Given the description of an element on the screen output the (x, y) to click on. 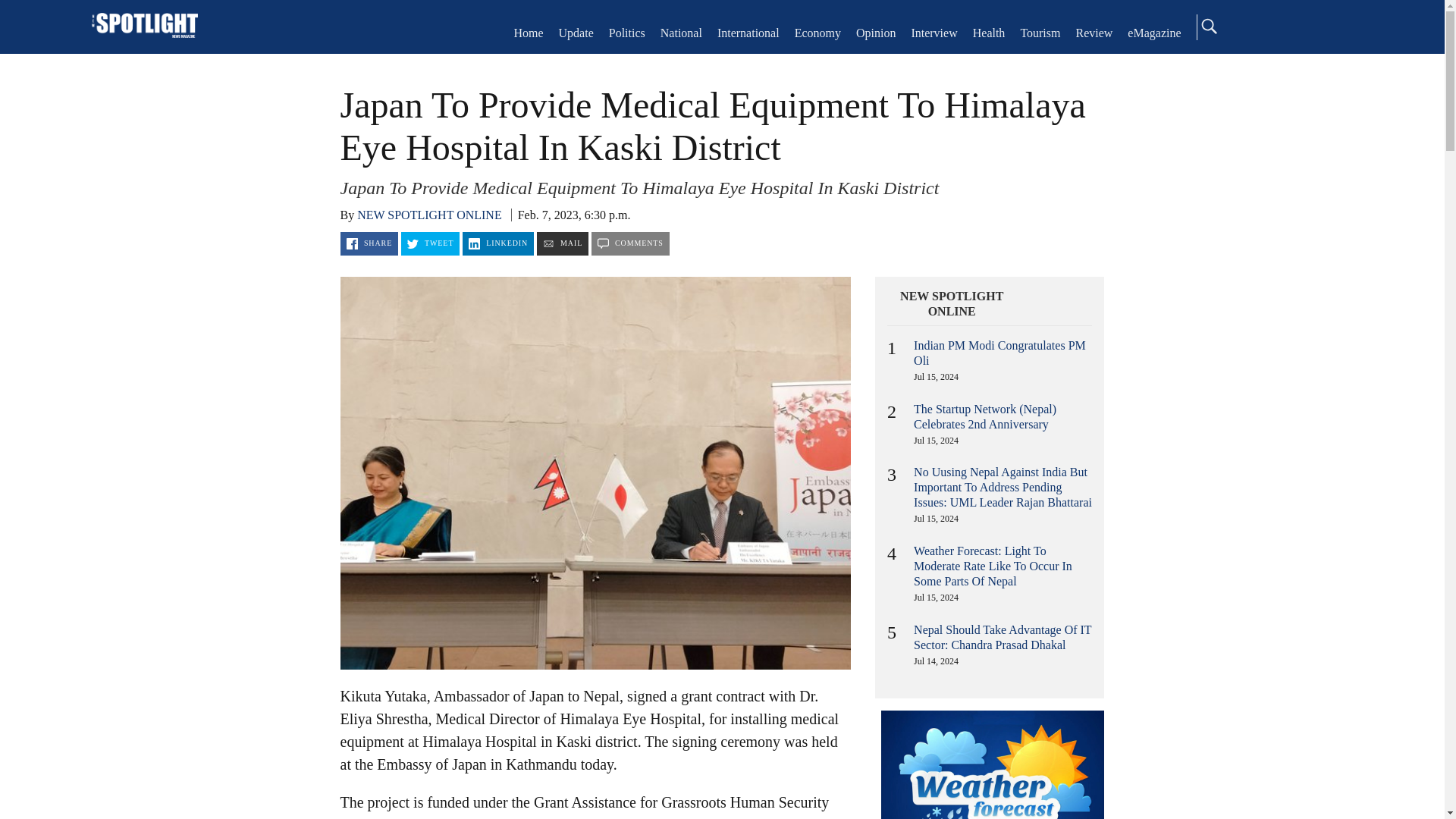
eMagazine (1153, 32)
Search (1208, 26)
Home (528, 32)
International (747, 32)
Economy (817, 32)
Interview (933, 32)
COMMENTS (630, 243)
Tourism (1039, 32)
Opinion (875, 32)
Indian PM Modi Congratulates PM Oli (1000, 352)
Update (576, 32)
MAIL (563, 243)
